Given the description of an element on the screen output the (x, y) to click on. 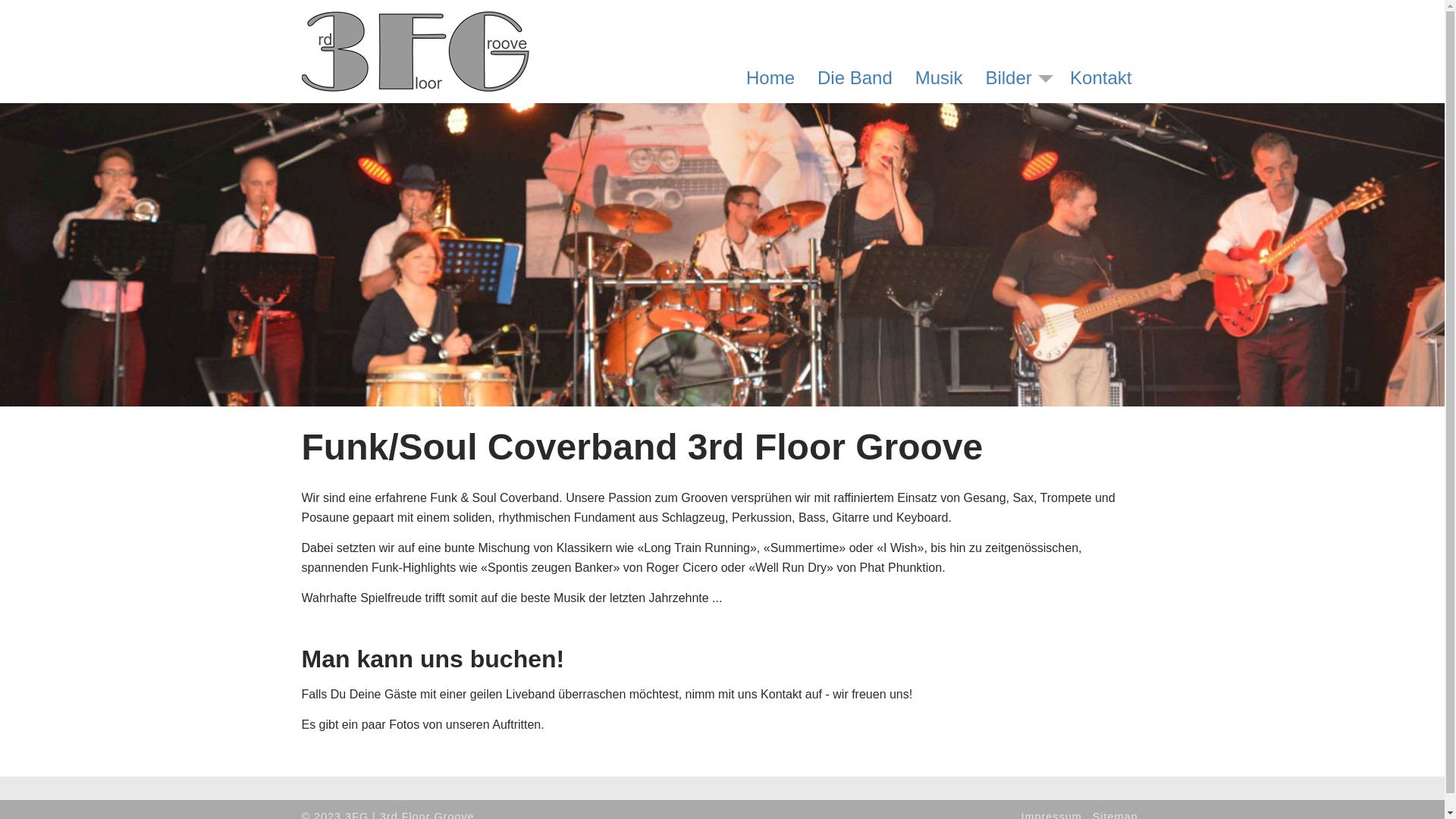
Home Element type: text (770, 77)
Home Element type: hover (415, 20)
Die Band Element type: text (854, 77)
Bilder Element type: text (1007, 77)
Musik Element type: text (938, 77)
Kontakt Element type: text (1100, 77)
